Given the description of an element on the screen output the (x, y) to click on. 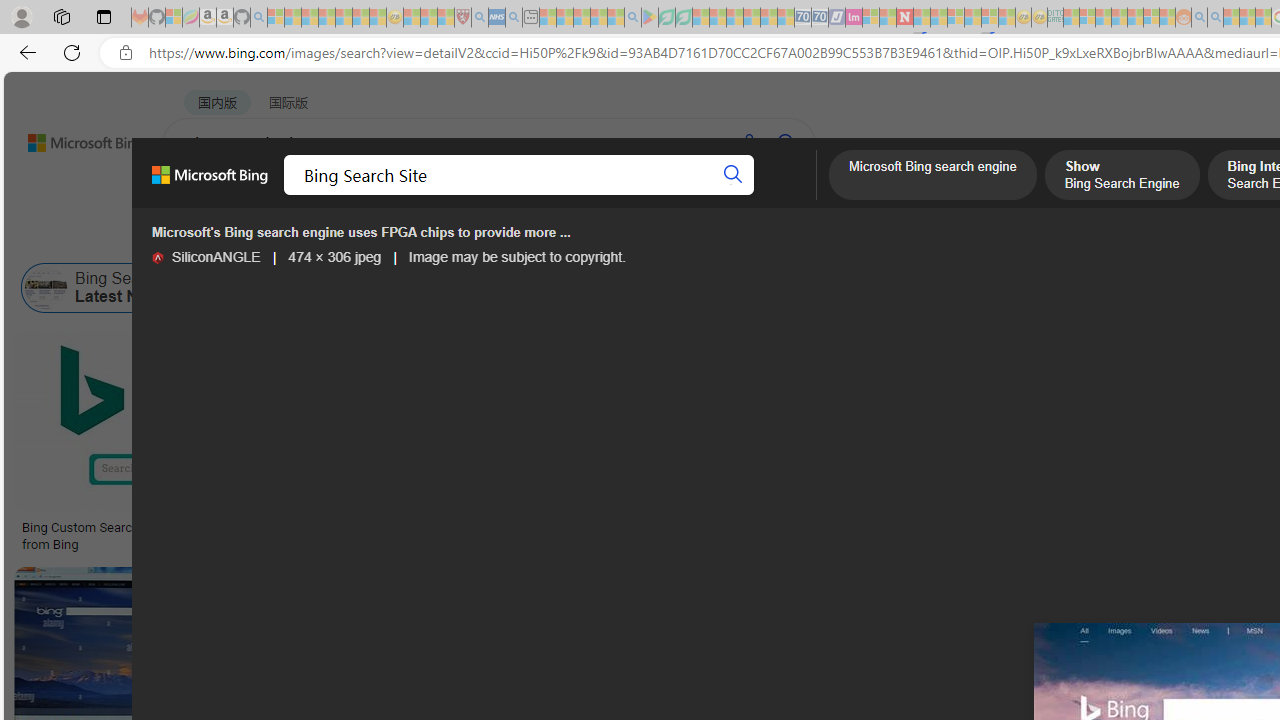
Type (372, 237)
Kinda Frugal - MSN - Sleeping (1135, 17)
People (521, 237)
Recipes - MSN - Sleeping (411, 17)
DICT (717, 195)
DITOGAMES AG Imprint - Sleeping (1055, 17)
Microsoft account | Privacy - Sleeping (1087, 17)
Terms of Use Agreement - Sleeping (666, 17)
Cheap Hotels - Save70.com - Sleeping (819, 17)
Microsoft Bing Search (1195, 287)
SiliconANGLE (157, 257)
VIDEOS (545, 195)
Bing Custom Search: A New Site Search Solution from Bing (169, 535)
